Given the description of an element on the screen output the (x, y) to click on. 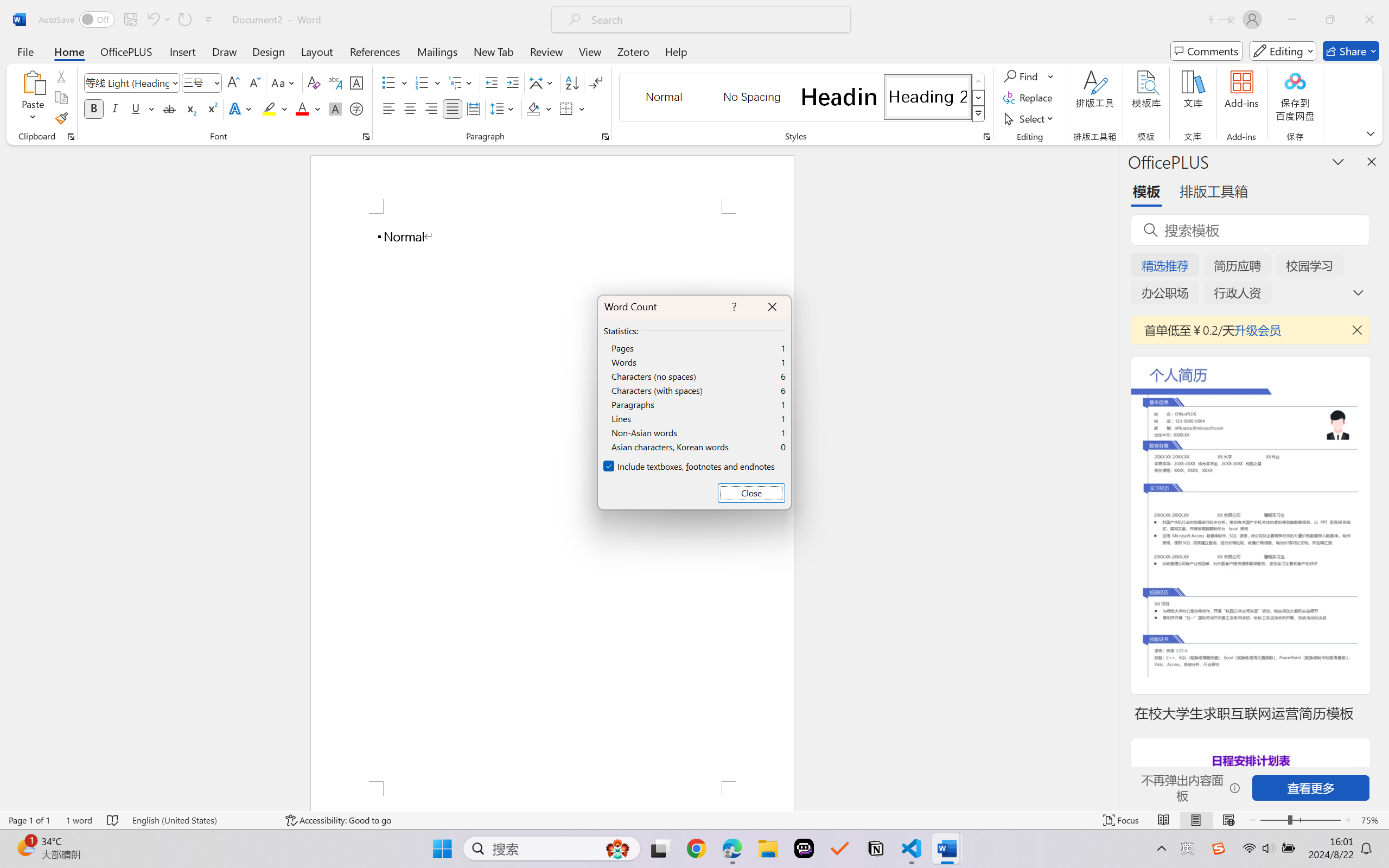
Shrink Font (253, 82)
Word Count 1 word (78, 819)
View (589, 51)
Change Case (284, 82)
Font Size (201, 82)
Customize Quick Access Toolbar (208, 19)
Shading (539, 108)
Text Highlight Color Yellow (269, 108)
Underline (142, 108)
Read Mode (1163, 819)
